Given the description of an element on the screen output the (x, y) to click on. 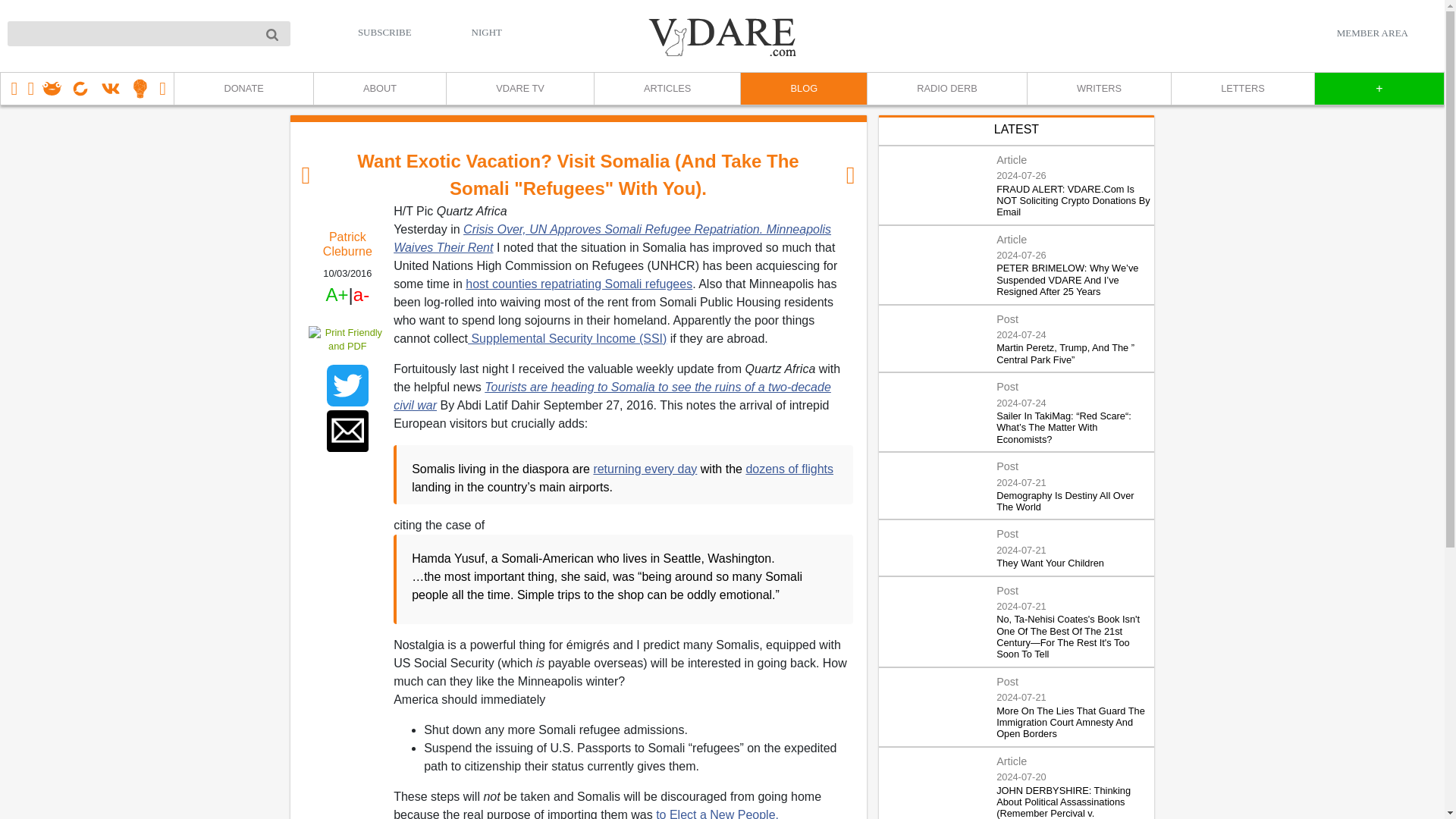
SUBSCRIBE (385, 31)
Share to Email (347, 431)
Share to Twitter (347, 385)
LETTERS (1242, 88)
VDARE TV (519, 88)
ABOUT (379, 88)
BLOG (802, 88)
RADIO DERB (946, 88)
Printer Friendly and PDF (347, 338)
WRITERS (1098, 88)
